Given the description of an element on the screen output the (x, y) to click on. 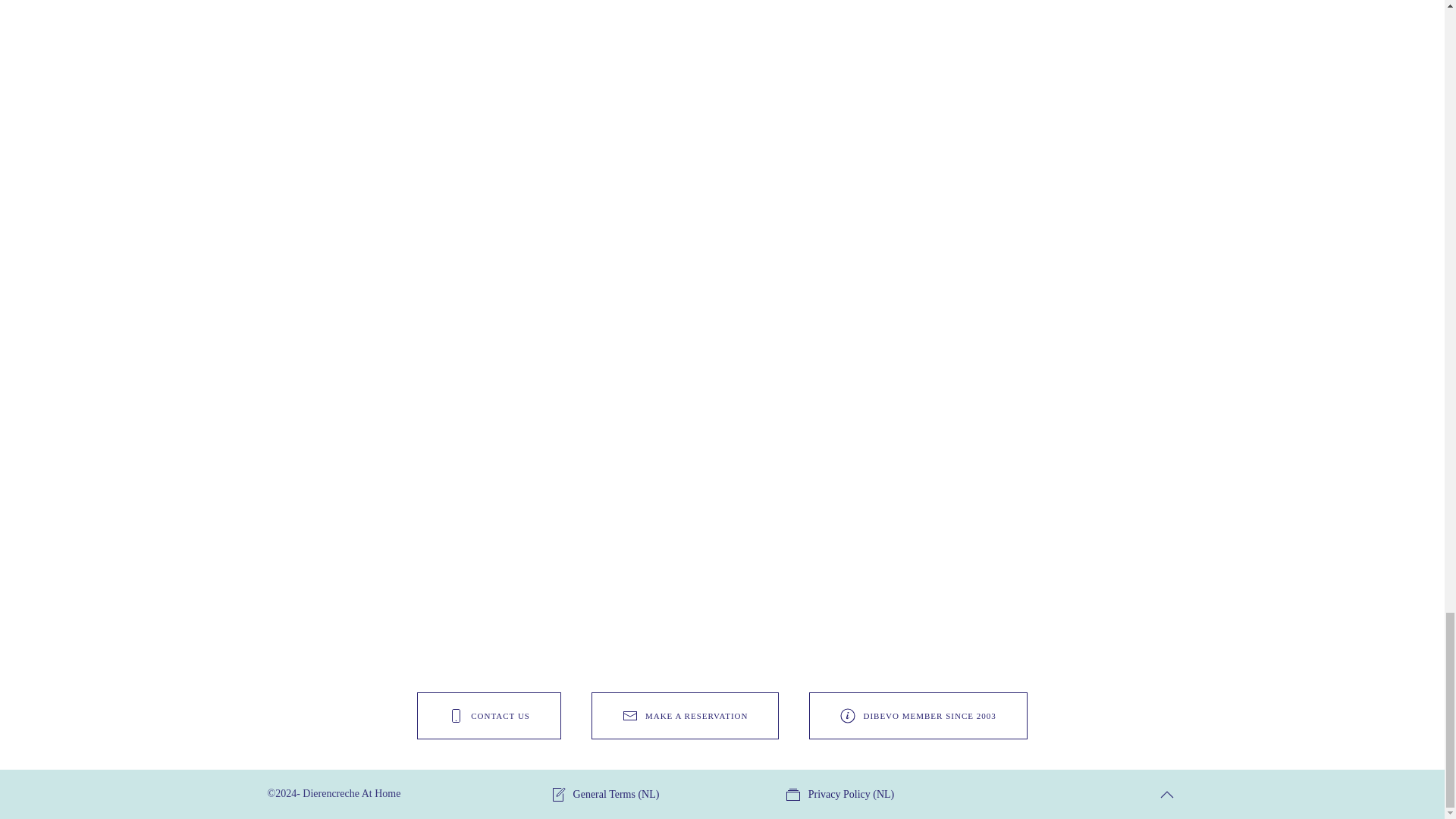
DIBEVO MEMBER SINCE 2003 (917, 715)
CONTACT US (488, 715)
MAKE A RESERVATION (684, 715)
